Given the description of an element on the screen output the (x, y) to click on. 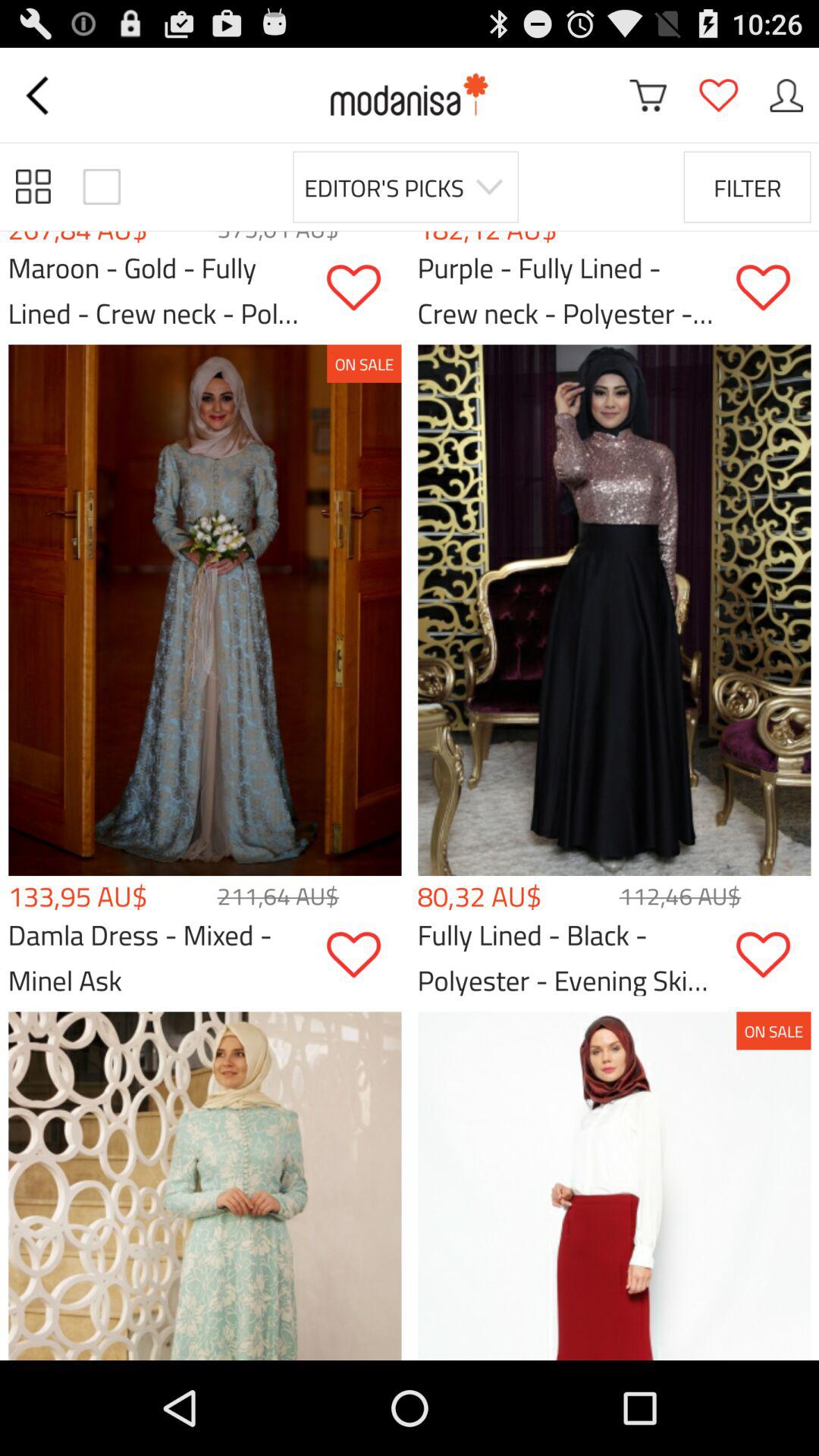
favorite (363, 287)
